Given the description of an element on the screen output the (x, y) to click on. 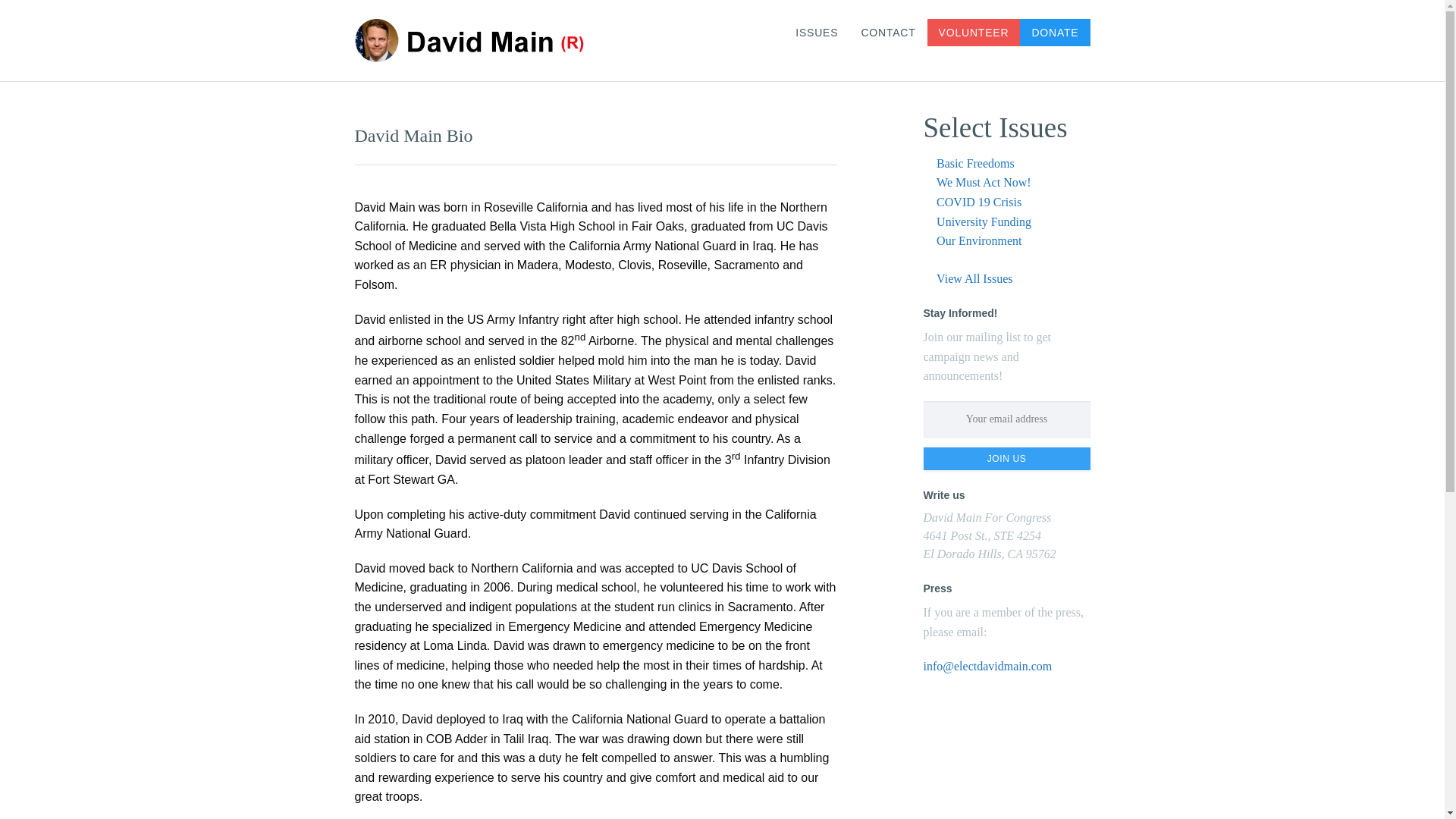
CONTACT (887, 32)
Our Environment (979, 240)
ISSUES (816, 32)
View All Issues (973, 278)
VOLUNTEER (974, 32)
Basic Freedoms (975, 163)
COVID 19 Crisis (979, 201)
Join Us (1006, 458)
University Funding (983, 221)
Join Us (1006, 458)
We Must Act Now! (983, 182)
DONATE (1054, 32)
